Given the description of an element on the screen output the (x, y) to click on. 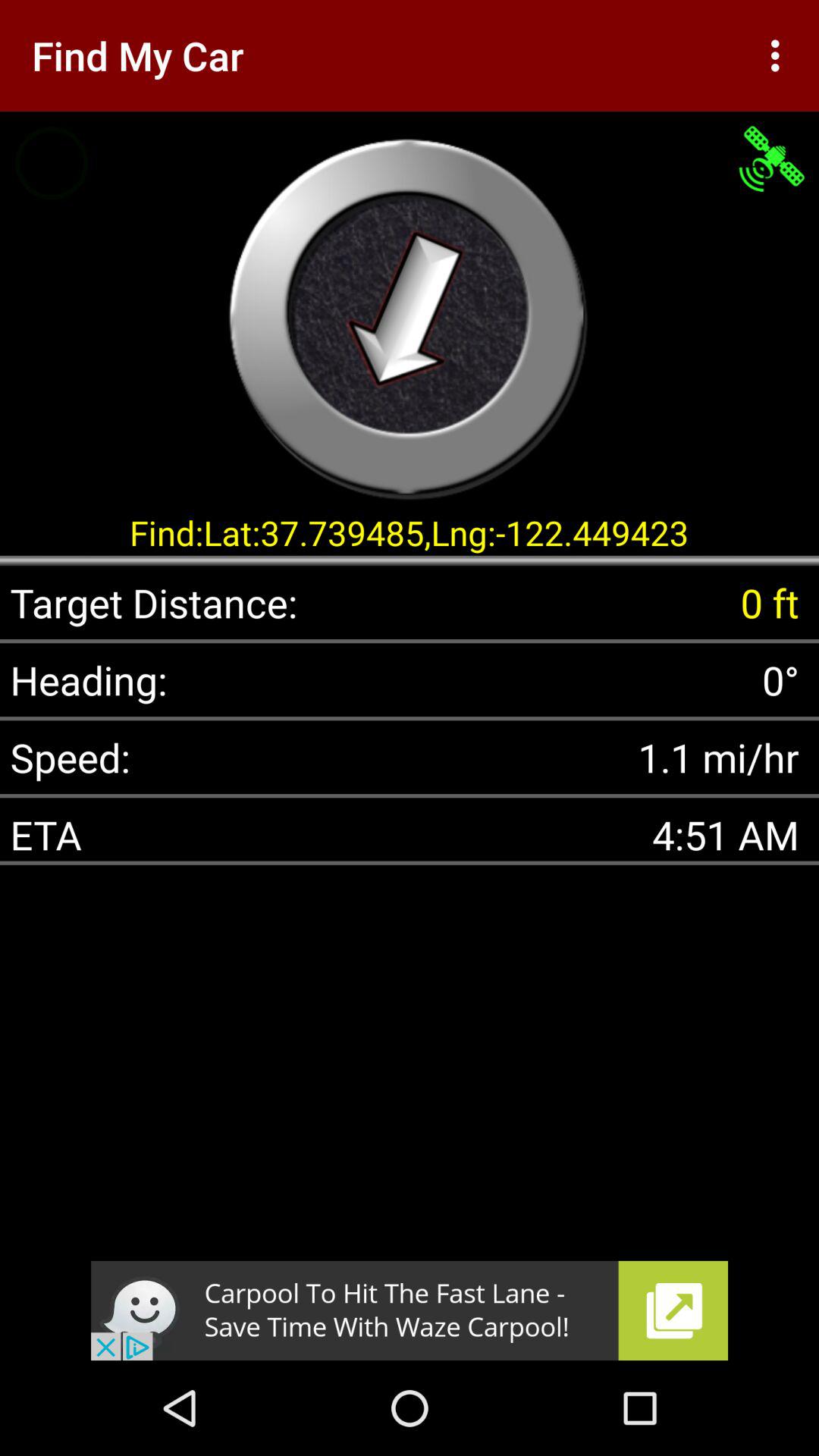
advertisement (409, 1310)
